Given the description of an element on the screen output the (x, y) to click on. 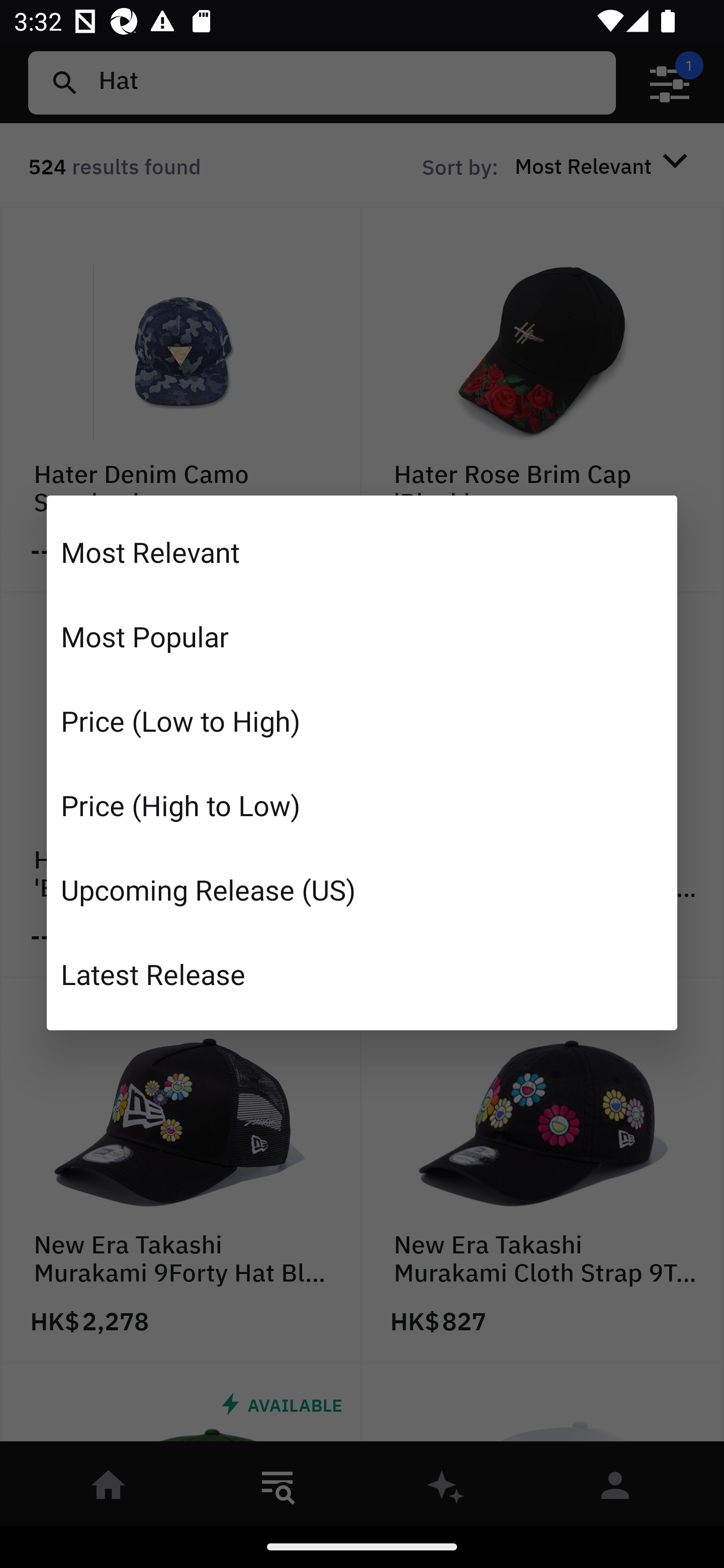
Most Relevant (361, 551)
Most Popular (361, 636)
Price (Low to High) (361, 720)
Price (High to Low) (361, 804)
Upcoming Release (US) (361, 888)
Latest Release (361, 973)
